Given the description of an element on the screen output the (x, y) to click on. 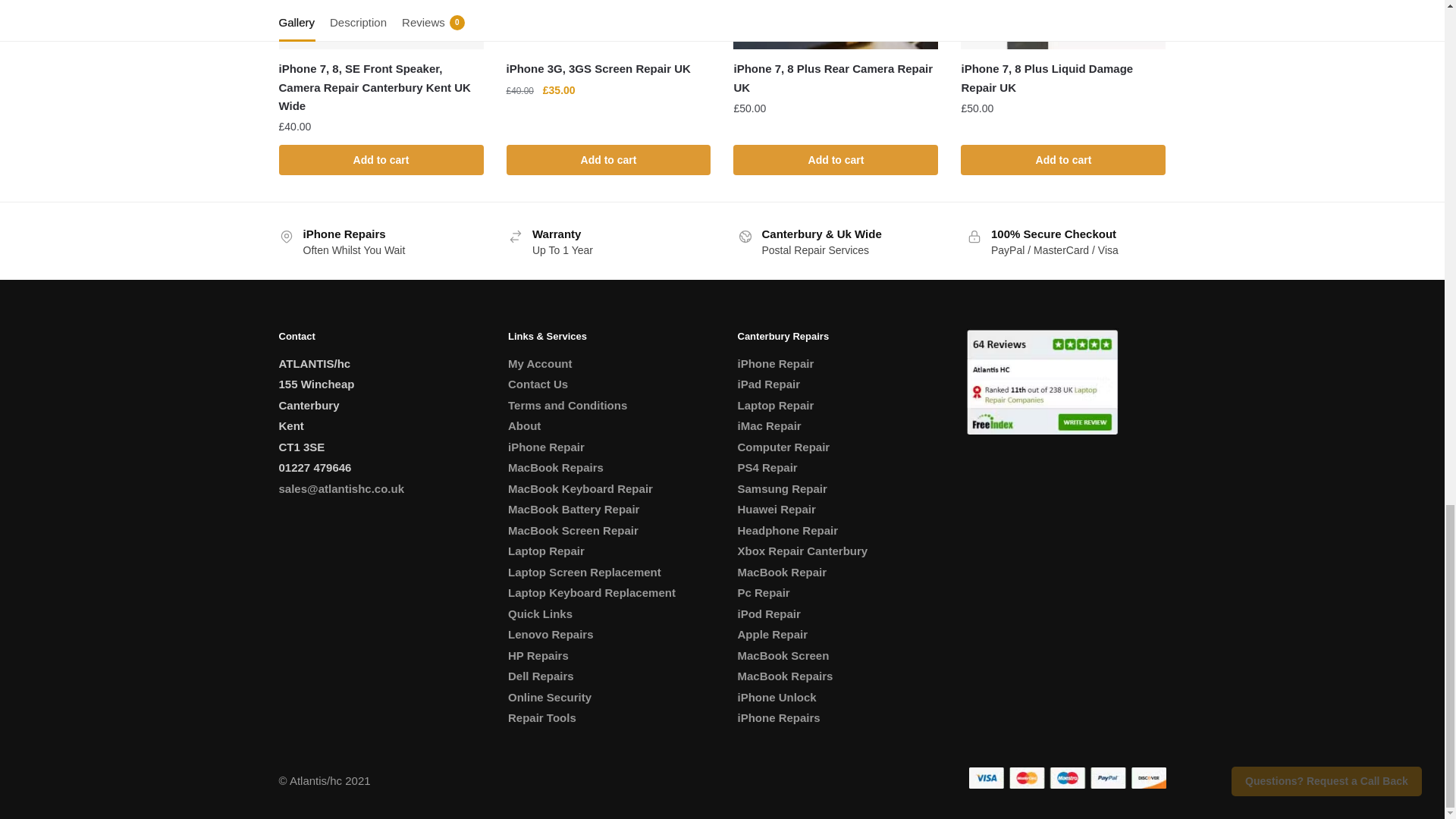
Freeindex Reviews (1042, 381)
iPhone 3G, 3GS Screen Repair UK (608, 24)
iPhone 7, 8 Plus Rear Camera Repair UK (835, 24)
iPhone 7, 8 Plus Liquid Damage Repair UK (1063, 24)
